Given the description of an element on the screen output the (x, y) to click on. 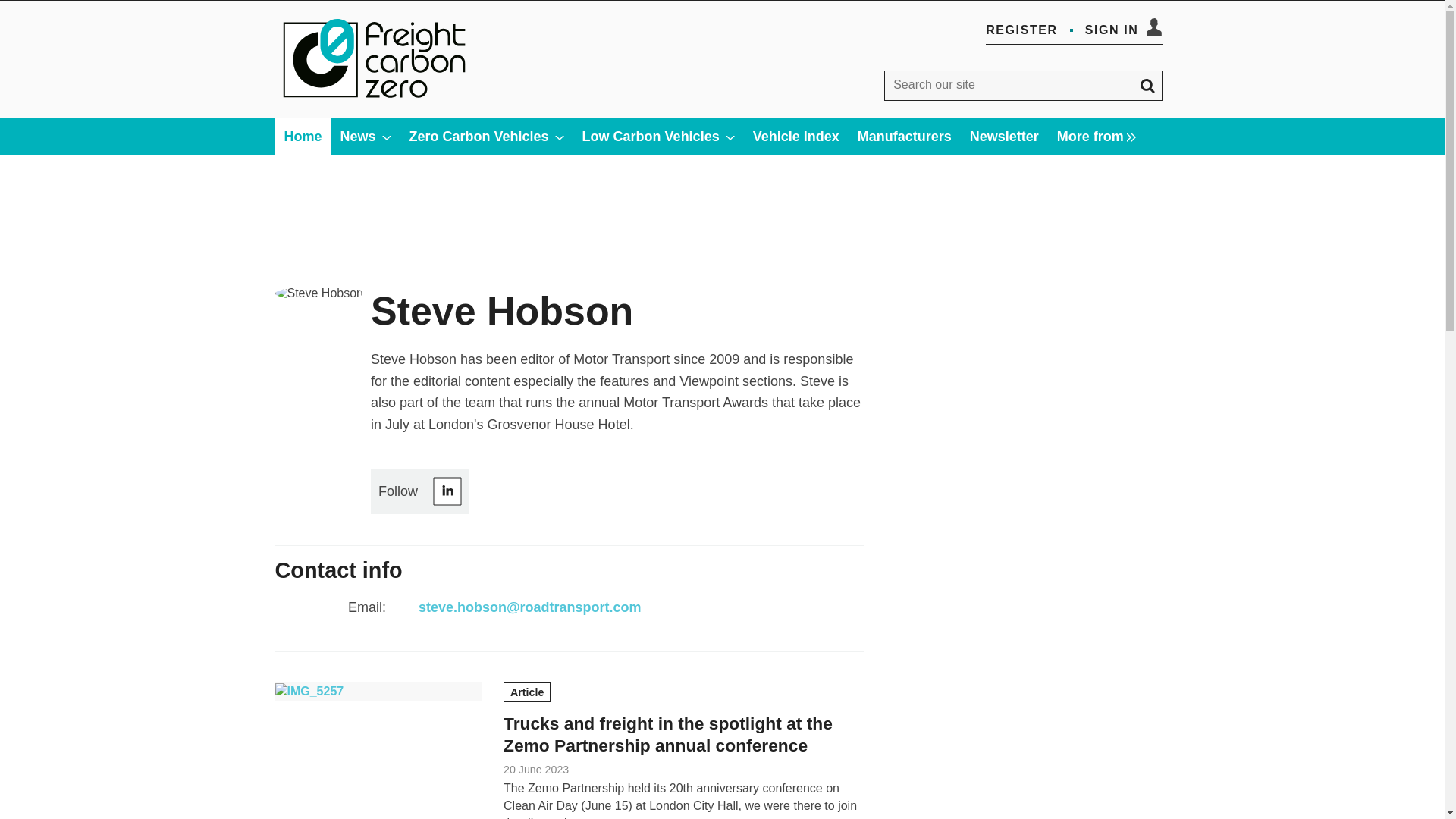
News (365, 135)
REGISTER (1021, 29)
Site name (374, 102)
SEARCH (1146, 85)
SIGN IN (1122, 29)
Home (302, 135)
